Given the description of an element on the screen output the (x, y) to click on. 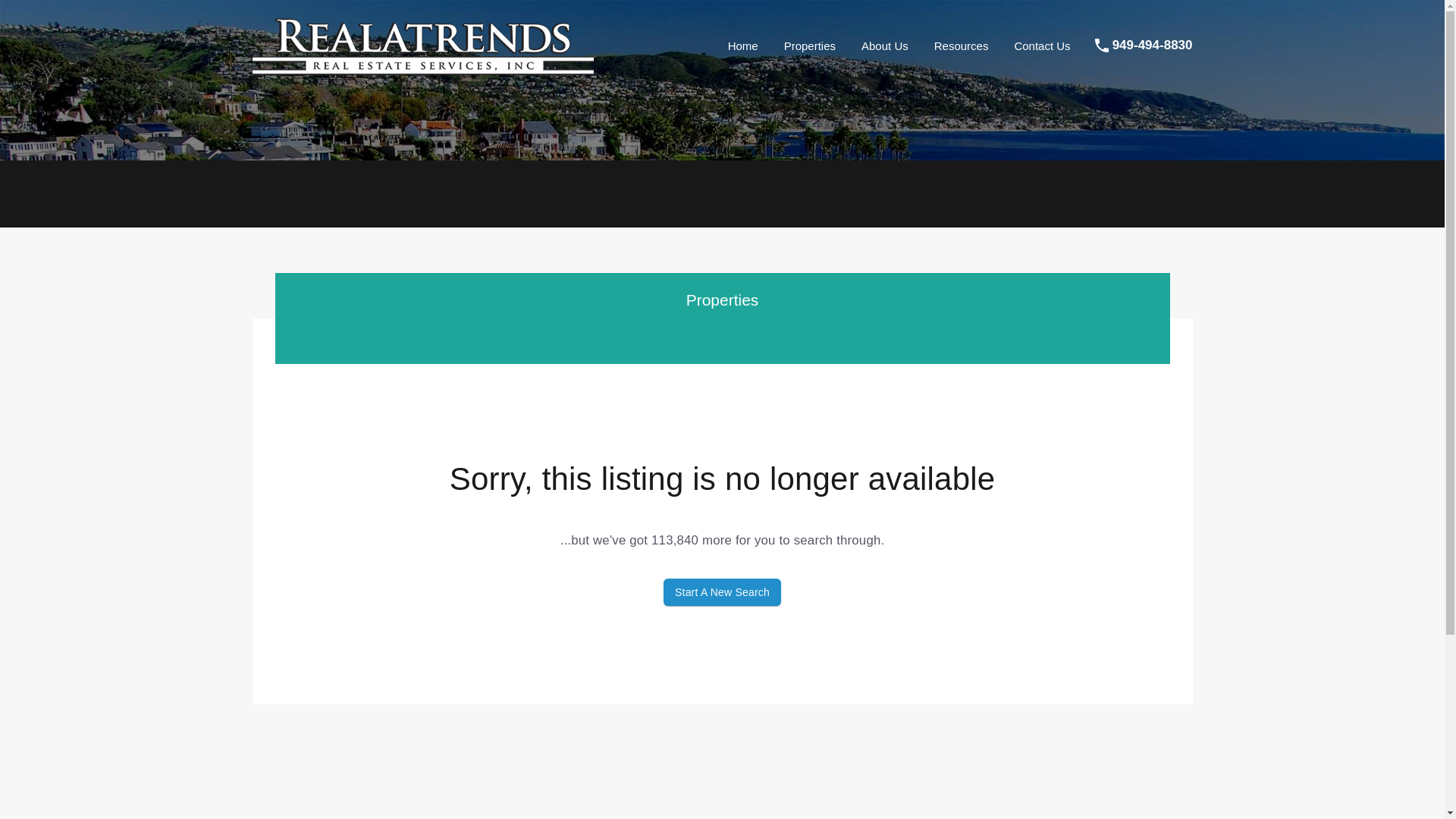
Home (742, 46)
Properties (809, 46)
Realatrends Real Estate (421, 69)
